Given the description of an element on the screen output the (x, y) to click on. 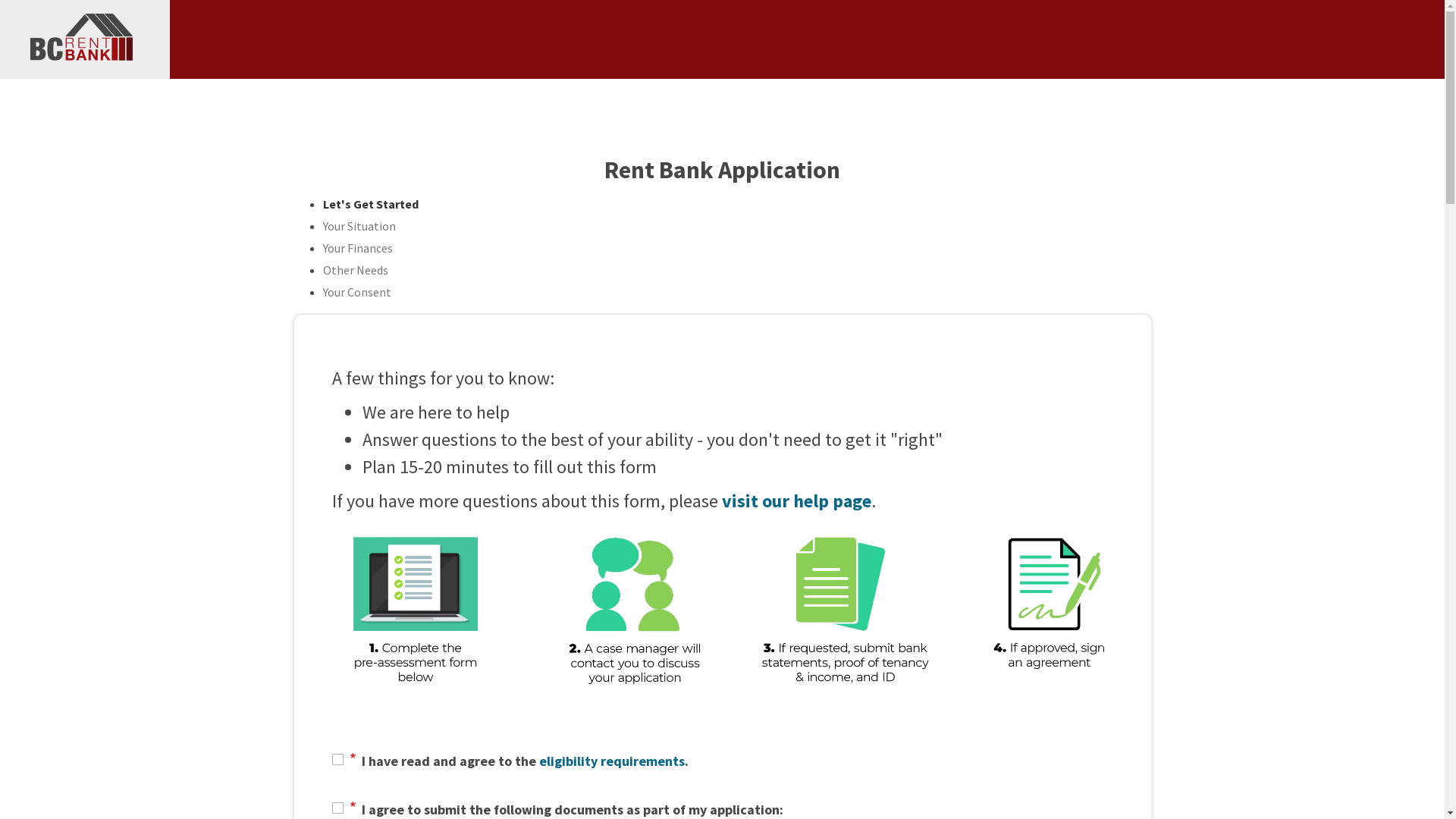
Skip to main content Element type: text (721, 1)
visit our help page Element type: text (796, 500)
eligibility requirements Element type: text (611, 760)
Home Element type: hover (84, 39)
